Given the description of an element on the screen output the (x, y) to click on. 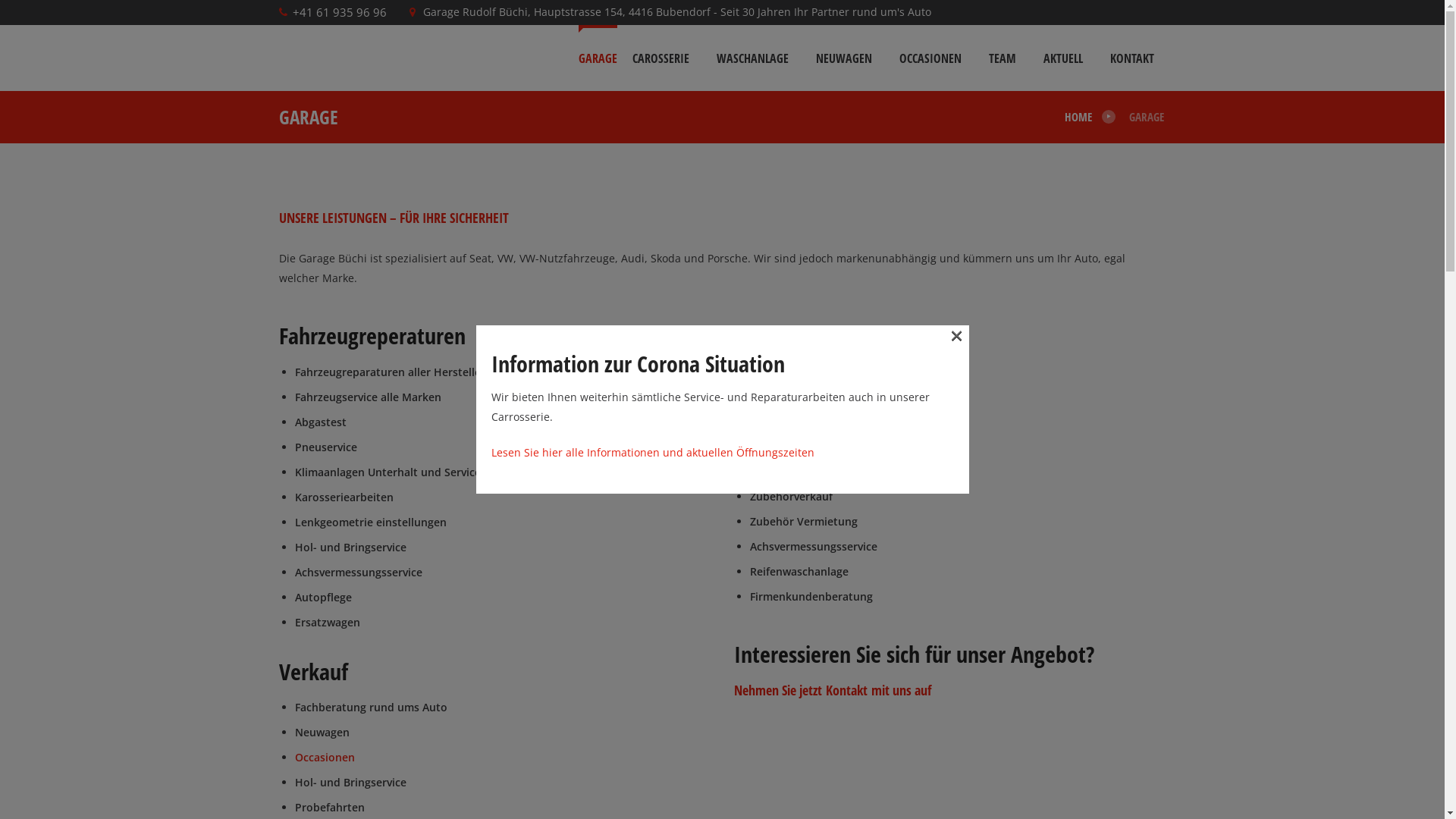
KONTAKT Element type: text (1132, 58)
AKTUELL Element type: text (1063, 58)
NEUWAGEN Element type: text (843, 58)
GARAGE Element type: text (596, 58)
WASCHANLAGE Element type: text (751, 58)
Ihre Garage in Bubendorf Element type: text (344, 58)
CAROSSERIE Element type: text (660, 58)
HOME Element type: text (1076, 117)
Occasionen Element type: text (324, 756)
OCCASIONEN Element type: text (930, 58)
Nehmen Sie jetzt Kontakt mit uns auf Element type: text (832, 689)
TEAM Element type: text (1002, 58)
